Given the description of an element on the screen output the (x, y) to click on. 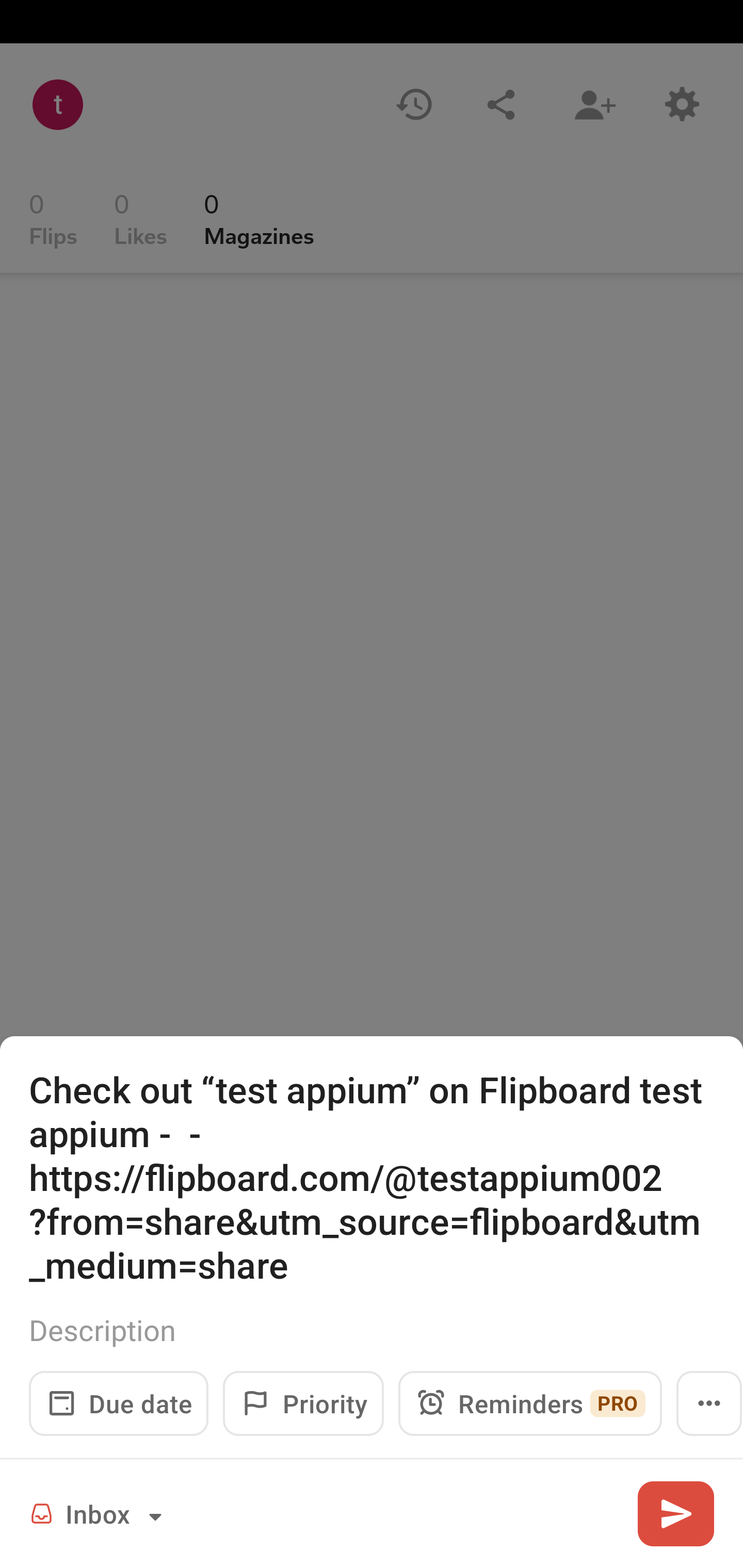
Description (371, 1330)
Due date Date (118, 1403)
Priority (303, 1403)
Reminders PRO Reminders (530, 1403)
Open menu (709, 1403)
Inbox Project (99, 1513)
Add (675, 1513)
